Given the description of an element on the screen output the (x, y) to click on. 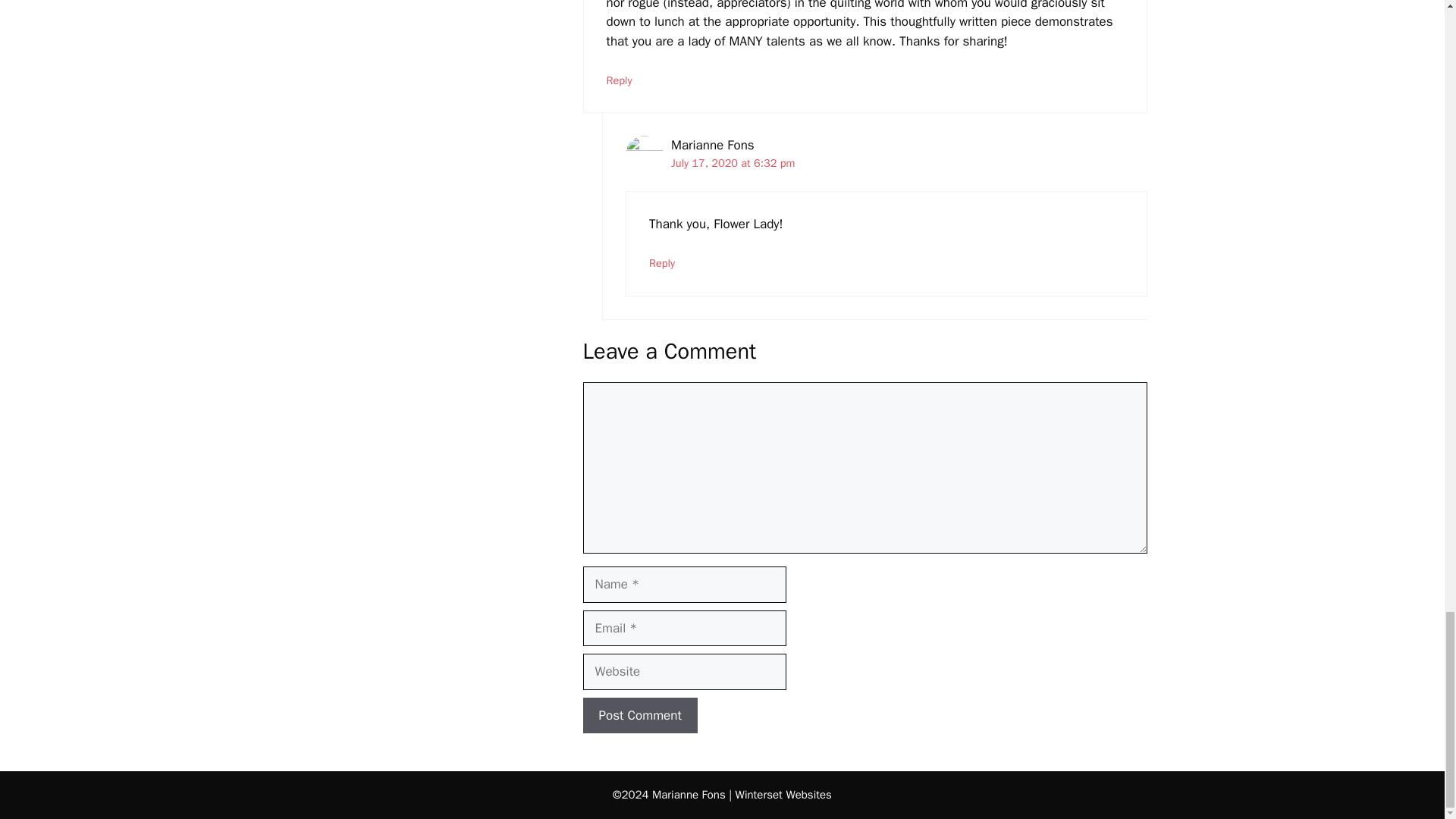
Post Comment (639, 715)
Reply (662, 263)
Reply (619, 79)
Post Comment (639, 715)
Winterset Websites (783, 794)
July 17, 2020 at 6:32 pm (732, 162)
